Given the description of an element on the screen output the (x, y) to click on. 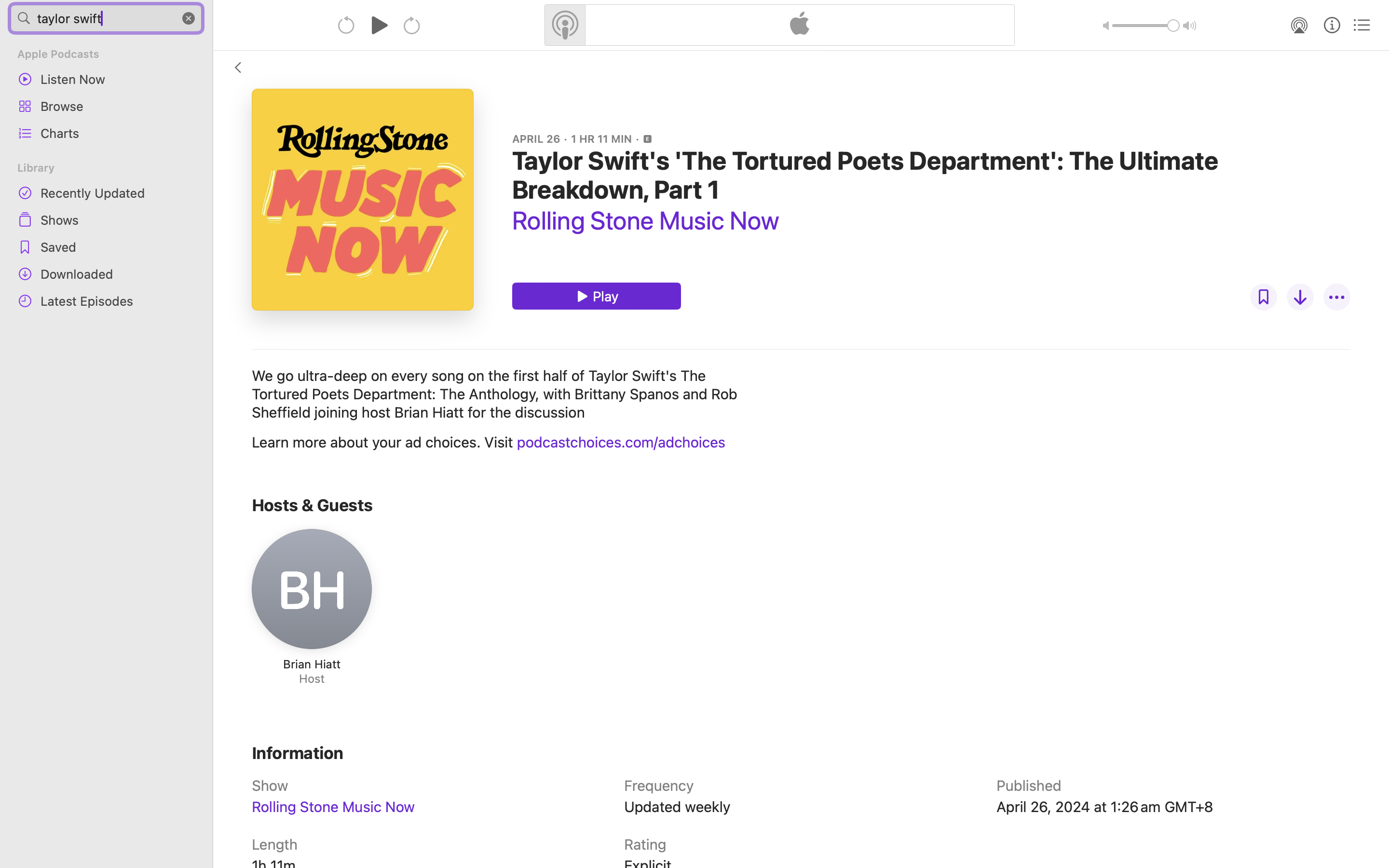
Playback Progress 0% Element type: AXImage (362, 199)
1.0 Element type: AXSlider (1145, 25)
taylor swift Element type: AXTextField (105, 17)
We go ultra-deep on every song on the first half of Taylor Swift's The Tortured Poets Department: The Anthology, with Brittany Spanos and Rob Sheffield joining host Brian Hiatt for the discussion 
Learn more about your ad choices. Visit podcastchoices.com/adchoices Element type: AXTextArea (502, 408)
Off Element type: AXButton (1263, 296)
